Given the description of an element on the screen output the (x, y) to click on. 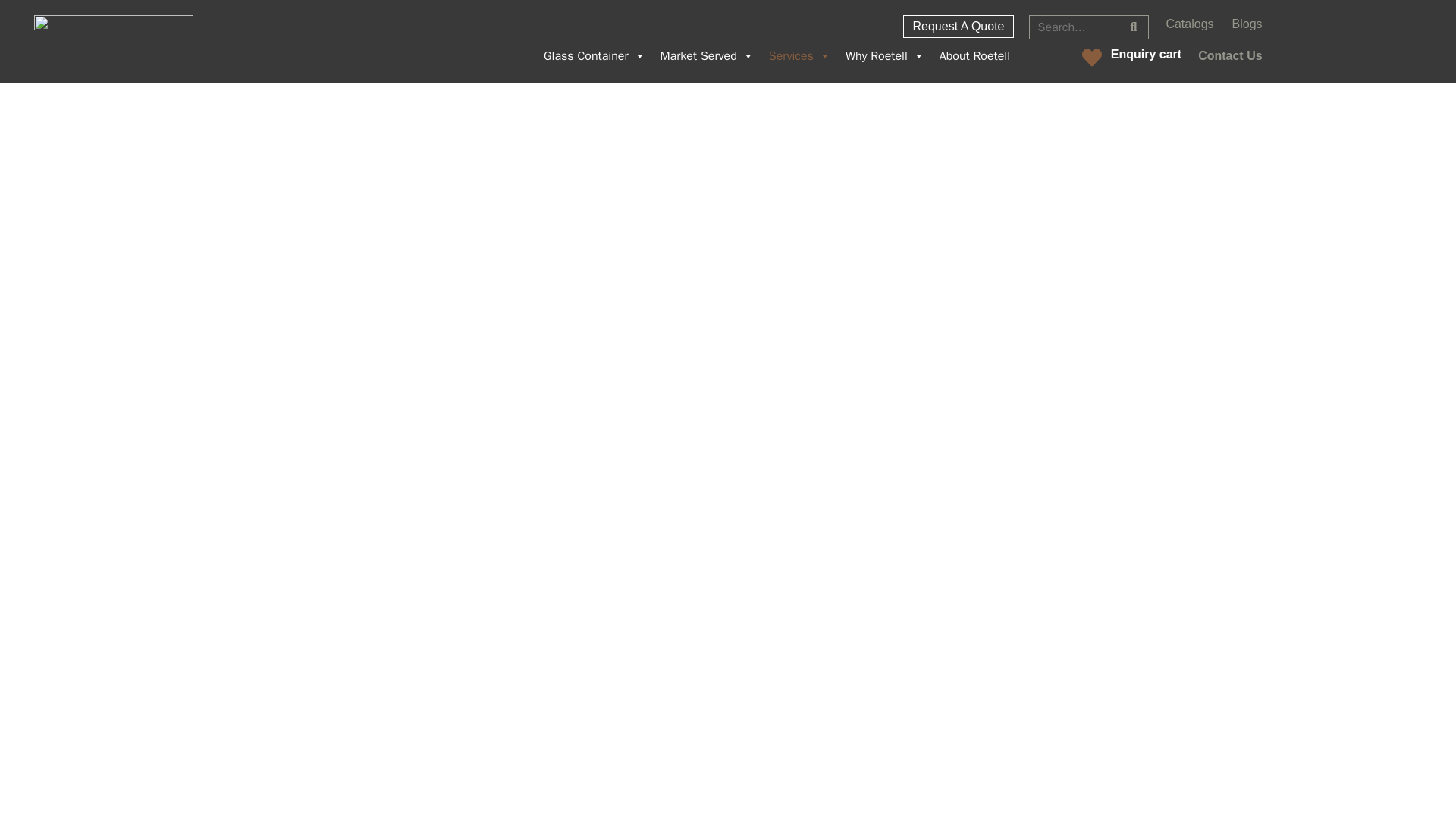
Glass Container (593, 55)
Request A Quote (957, 26)
Blogs (1246, 24)
Catalogs (1188, 24)
